Given the description of an element on the screen output the (x, y) to click on. 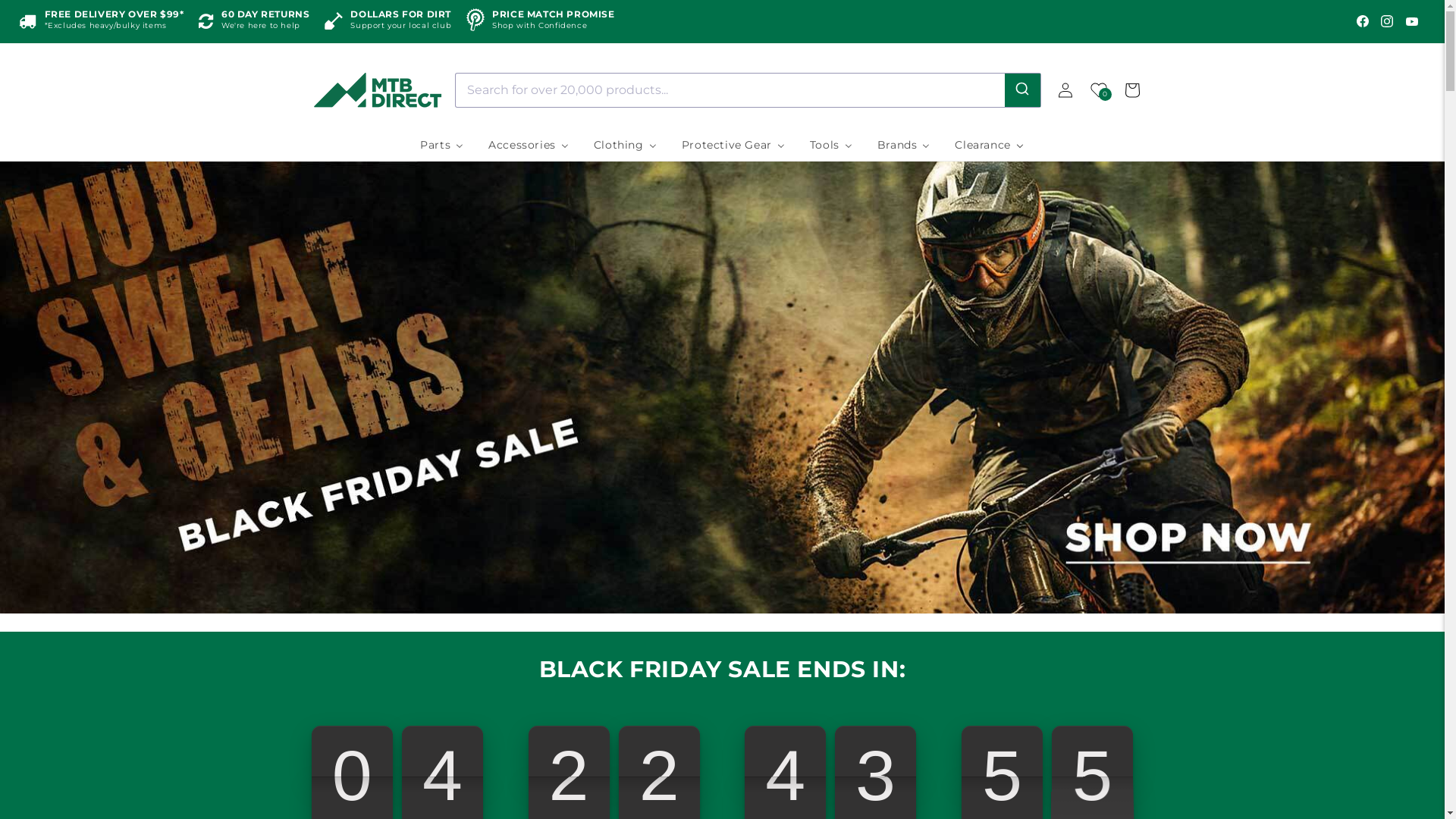
Log in Element type: text (1064, 89)
Protective Gear Element type: text (733, 144)
Accessories Element type: text (528, 144)
FREE DELIVERY OVER $99*
*Excludes heavy/bulky items Element type: text (100, 21)
Clearance Element type: text (988, 144)
Cart Element type: text (1131, 89)
Brands Element type: text (904, 144)
Submit Element type: hover (1021, 89)
Find us on YouTube Element type: text (1411, 20)
Parts Element type: text (441, 144)
60 DAY RETURNS
We're here to help Element type: text (253, 21)
Clothing Element type: text (625, 144)
Find us on Instagram Element type: text (1386, 20)
Submit Element type: text (21, 7)
0 Element type: text (1097, 89)
Tools Element type: text (831, 144)
Find us on Facebook Element type: text (1362, 20)
